Given the description of an element on the screen output the (x, y) to click on. 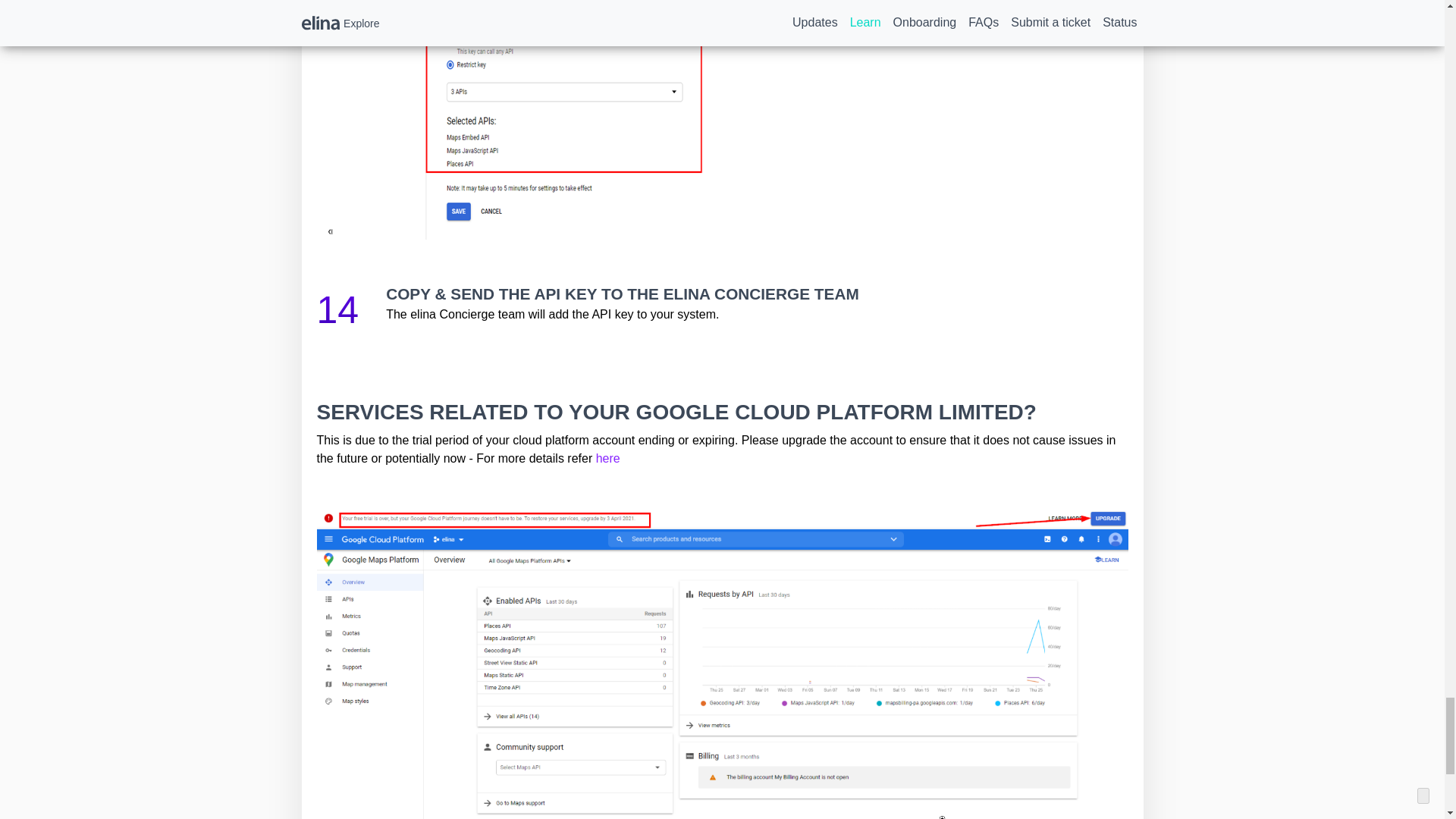
here (607, 458)
here (607, 458)
